Given the description of an element on the screen output the (x, y) to click on. 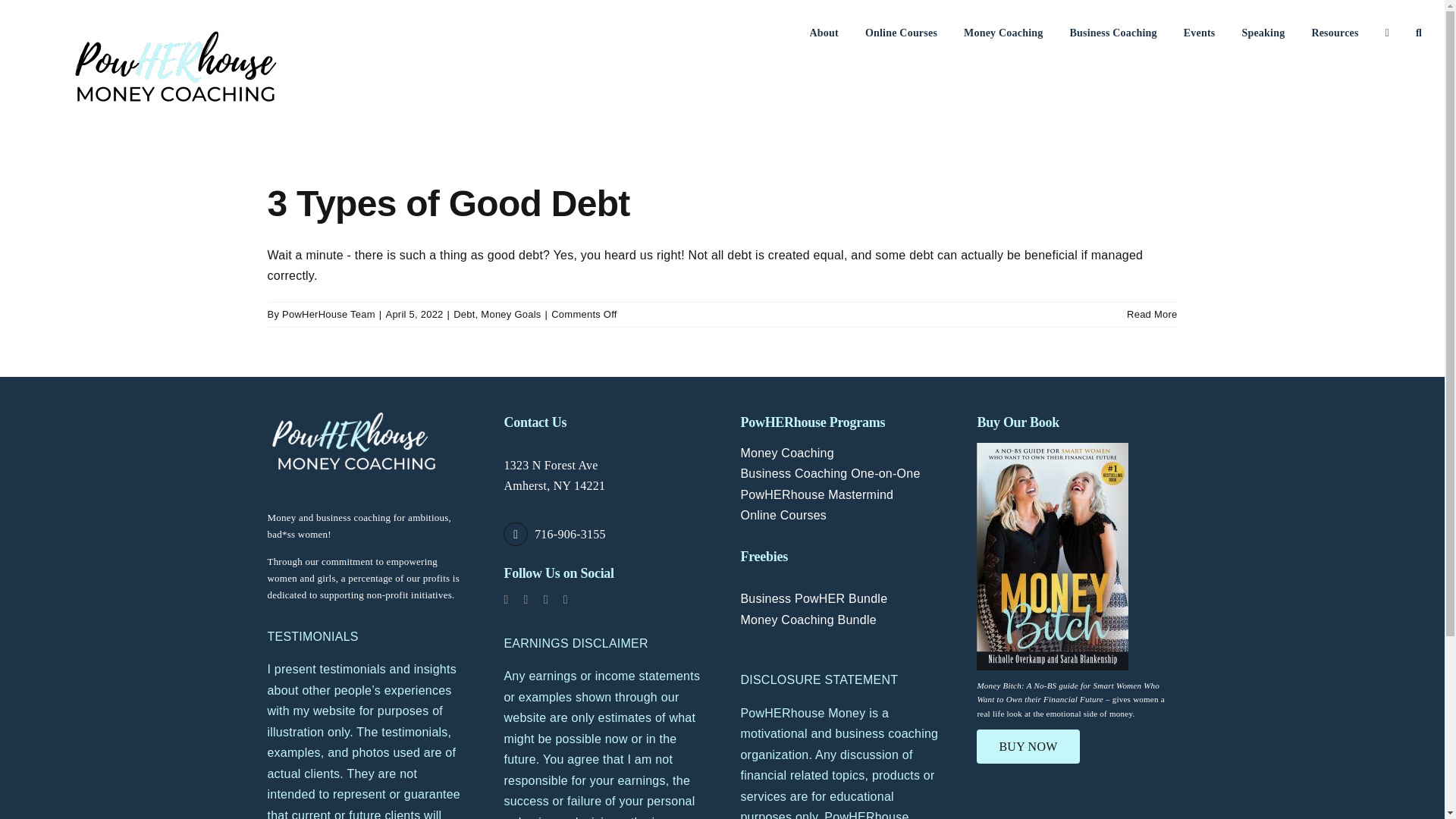
Posts by PowHerHouse Team (328, 314)
Online Courses (900, 31)
Business Coaching (1112, 31)
Money Coaching (1002, 31)
